Given the description of an element on the screen output the (x, y) to click on. 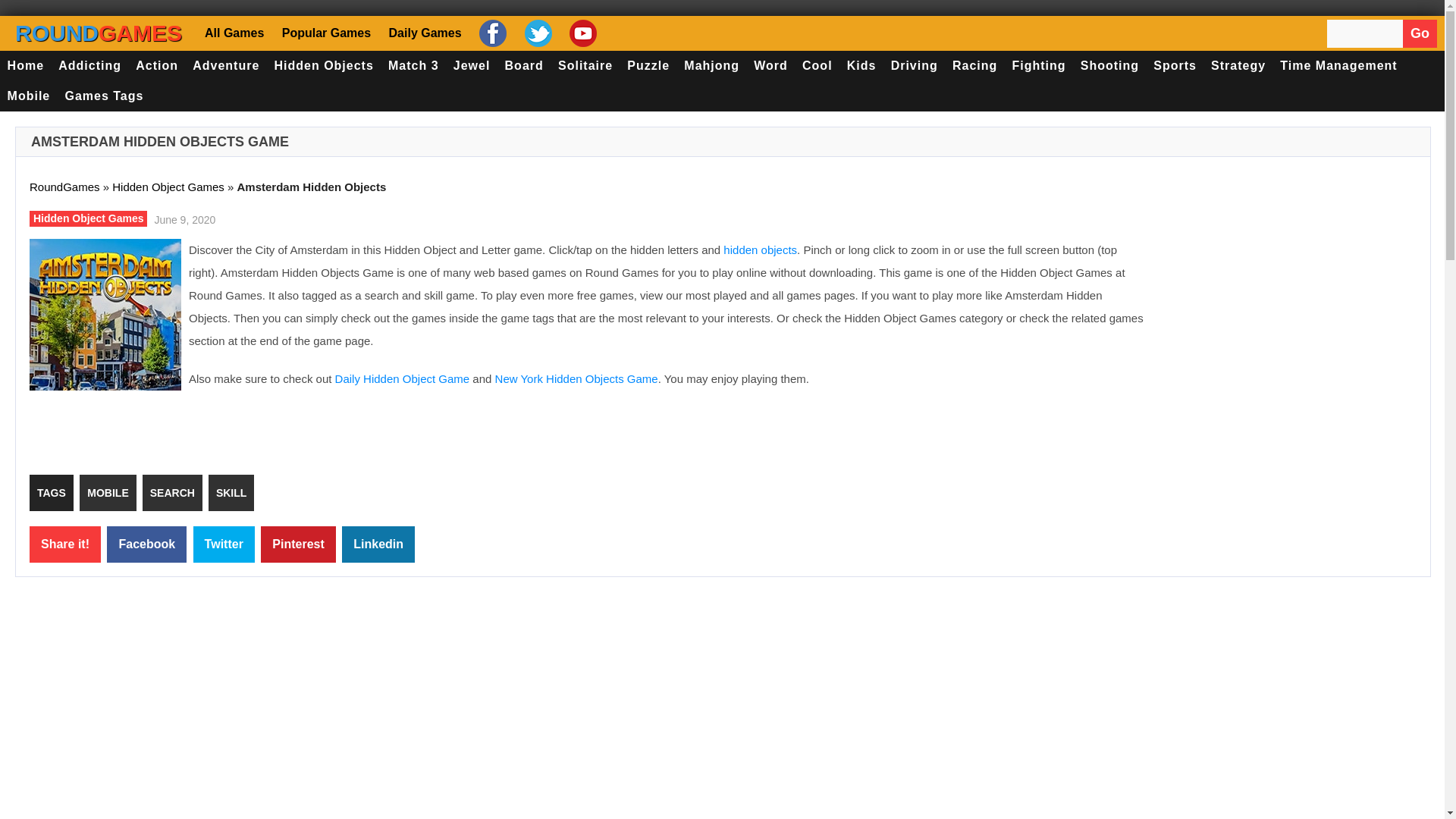
Hidden Objects (323, 65)
Adventure (226, 65)
Follow us on Facebook (491, 32)
Action (157, 65)
Our YouTube Channel (581, 32)
1:52 pm (182, 218)
Daily Games (423, 32)
Popular Games (324, 32)
ROUNDGAMES (98, 32)
All Games (237, 32)
